Given the description of an element on the screen output the (x, y) to click on. 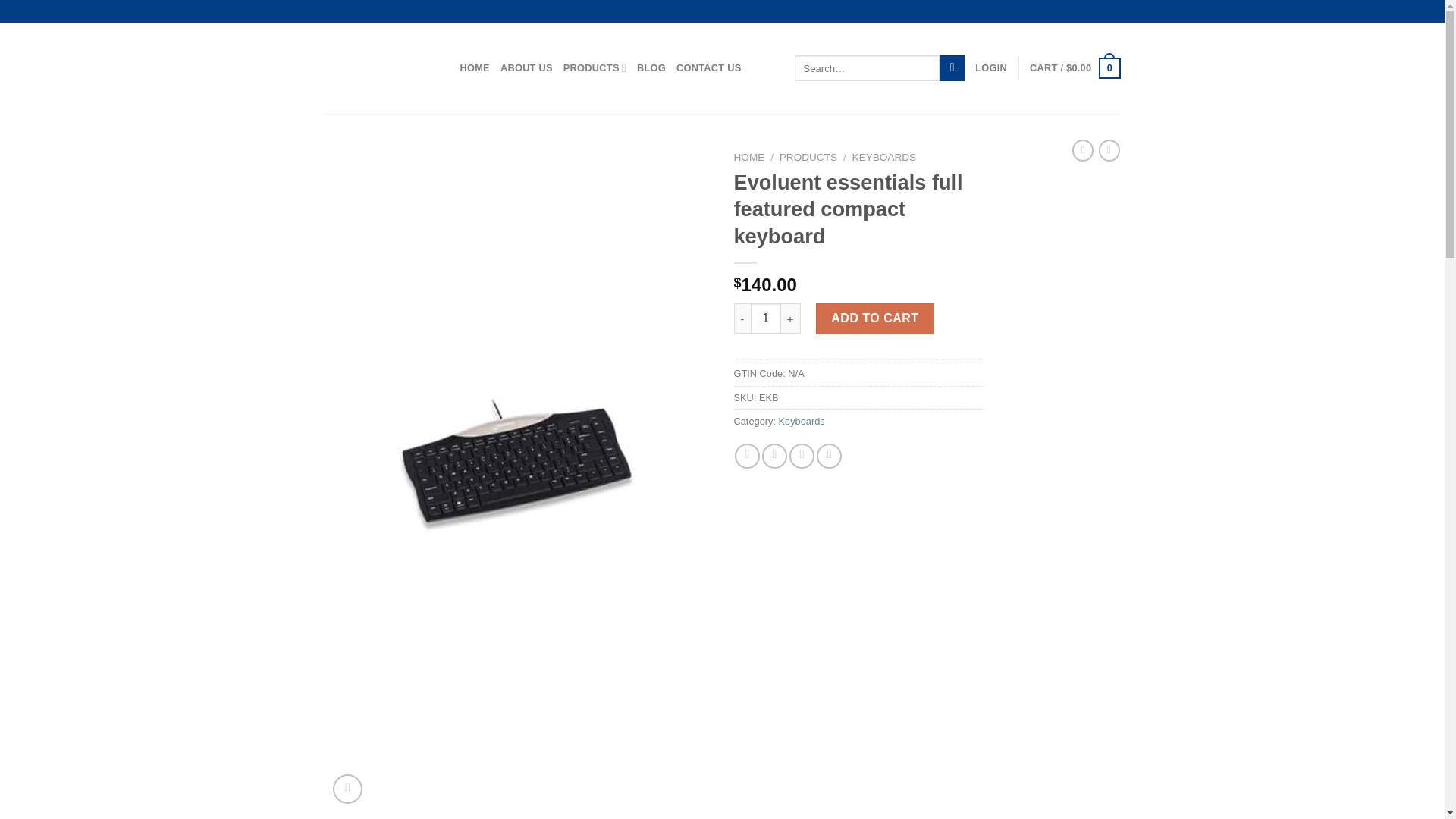
Cart (1074, 67)
Share on Twitter (774, 455)
Pin on Pinterest (828, 455)
KEYBOARDS (884, 156)
HOME (474, 68)
Email to a Friend (801, 455)
LOGIN (991, 68)
Ergo Equip (381, 67)
Keyboards (801, 420)
ADD TO CART (874, 318)
PRODUCTS (807, 156)
BLOG (651, 68)
CONTACT US (709, 68)
1 (765, 318)
Search (951, 68)
